Given the description of an element on the screen output the (x, y) to click on. 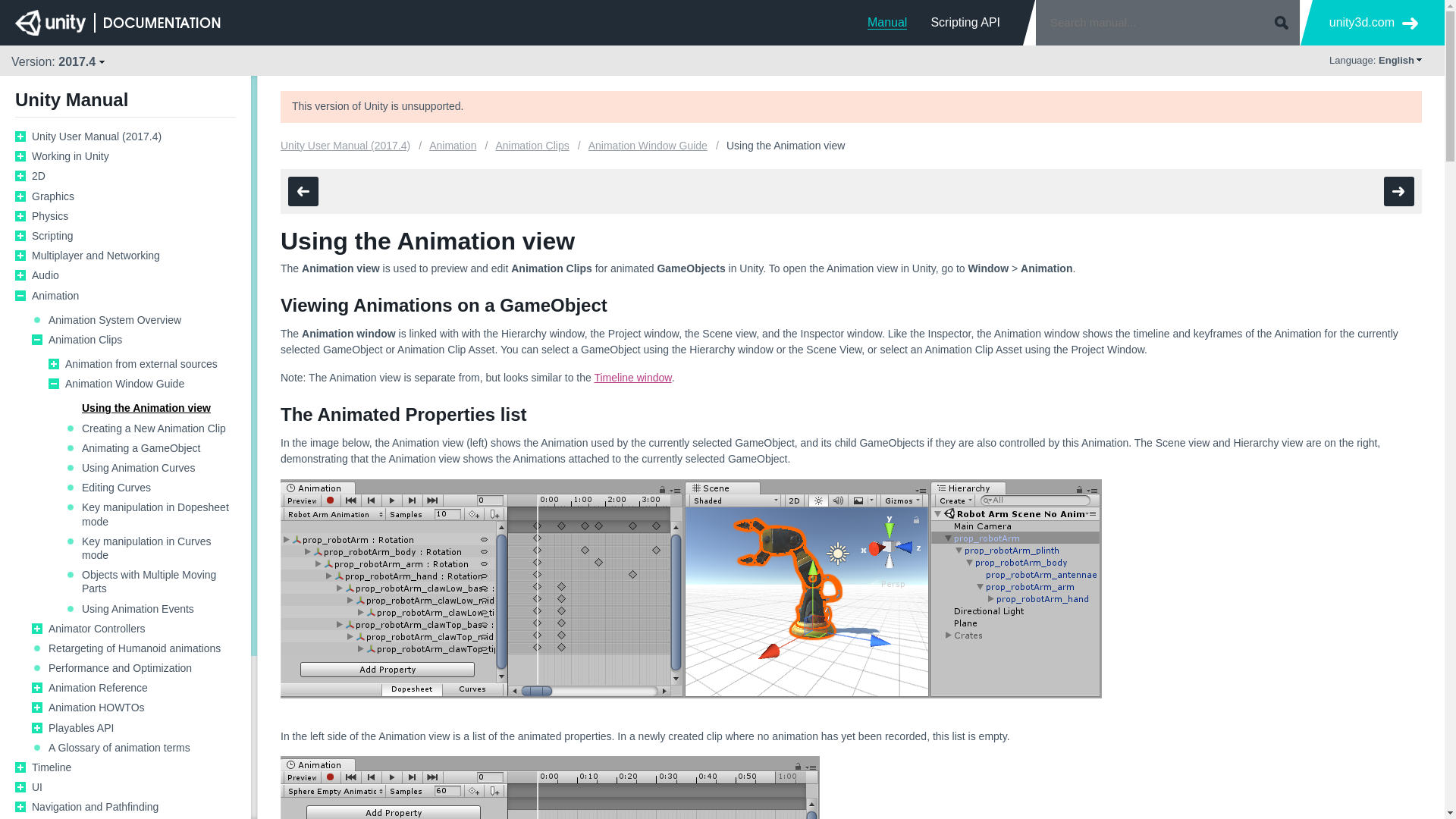
Manual (887, 22)
Scripting API (965, 22)
unity3d.com (1373, 22)
